Given the description of an element on the screen output the (x, y) to click on. 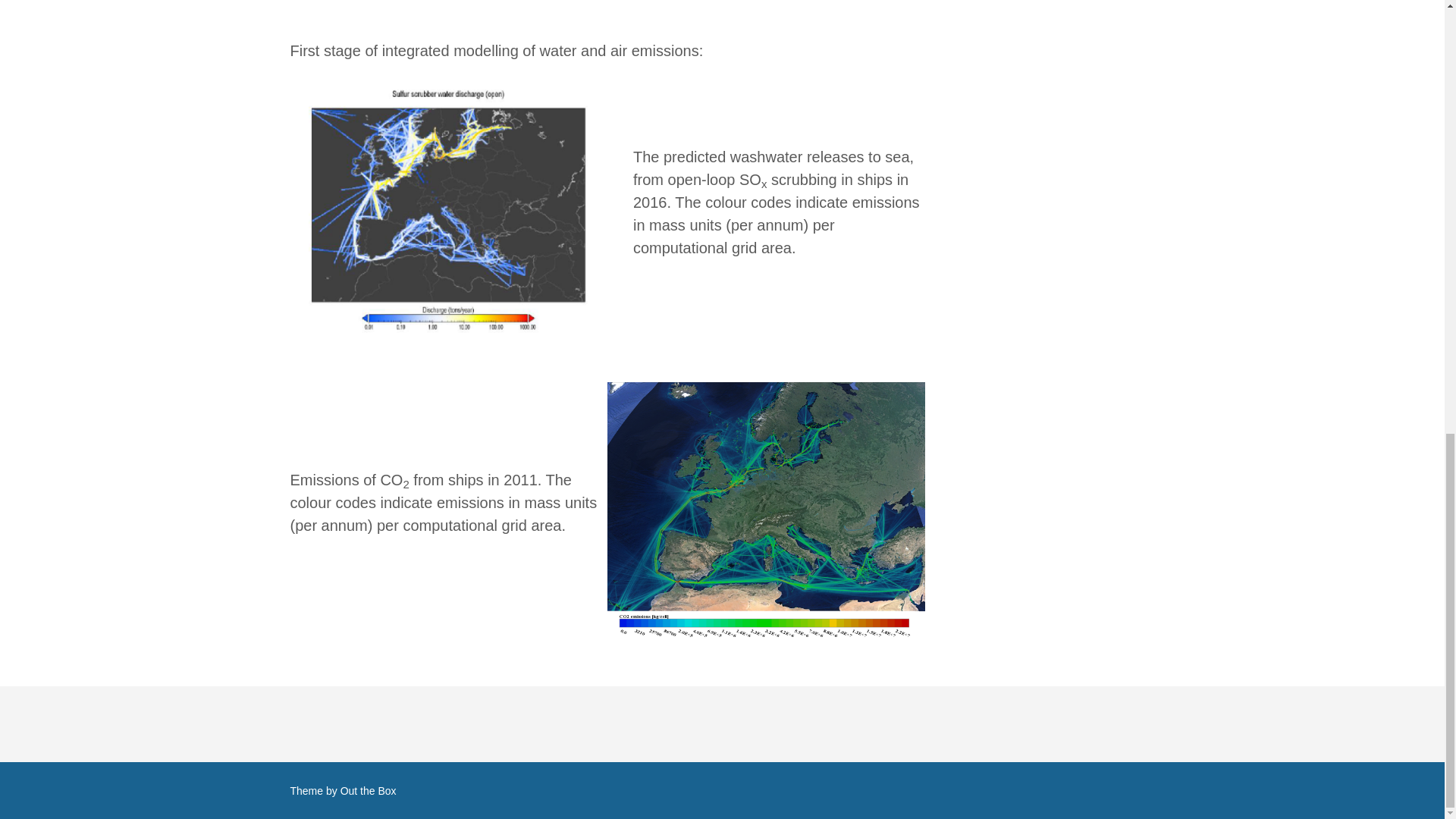
Out the Box (368, 790)
